Given the description of an element on the screen output the (x, y) to click on. 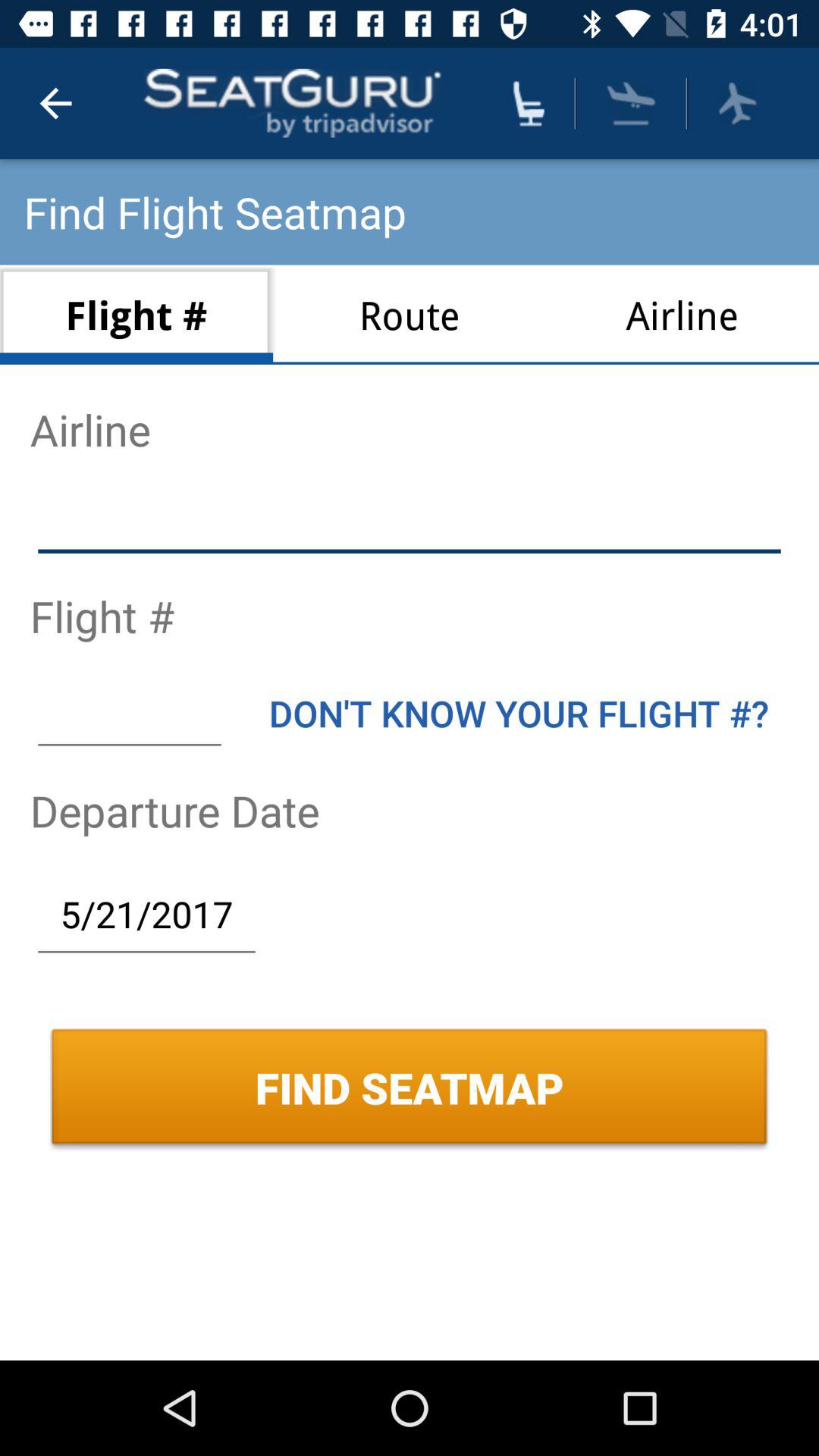
blank (129, 712)
